Given the description of an element on the screen output the (x, y) to click on. 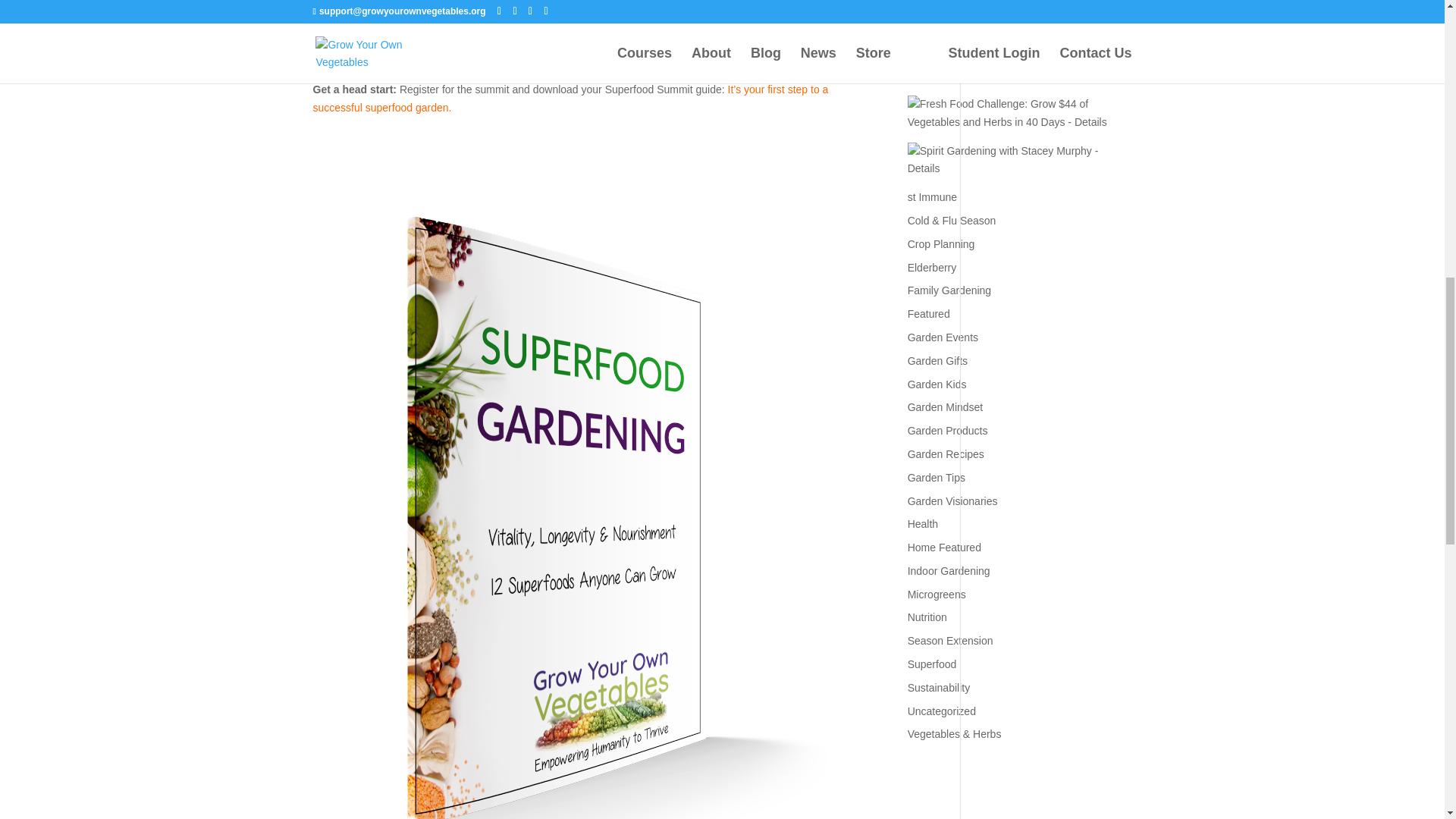
Featured (928, 313)
Crop Planning (941, 244)
Family Gardening (949, 290)
Boost Immune (1017, 101)
Elderberry (931, 267)
